Given the description of an element on the screen output the (x, y) to click on. 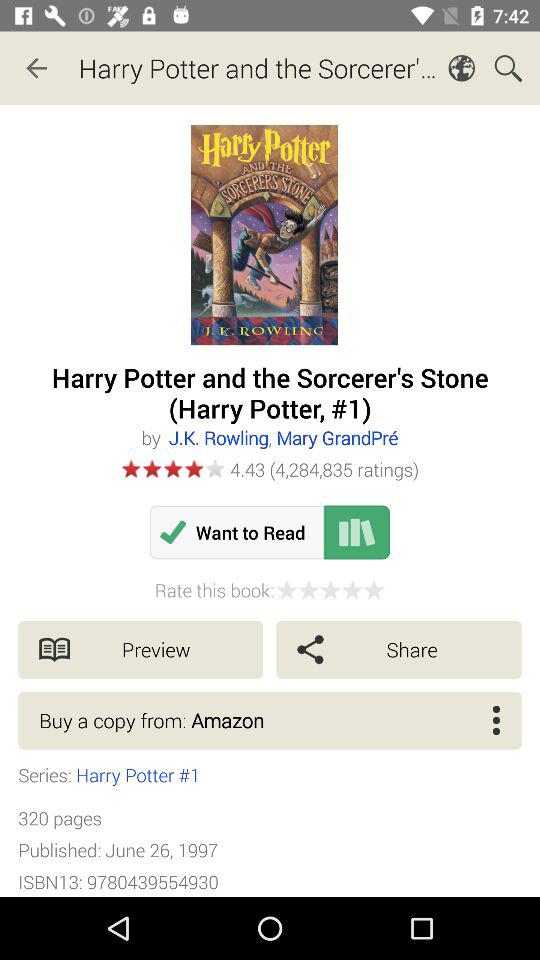
open item at the top left corner (36, 68)
